Given the description of an element on the screen output the (x, y) to click on. 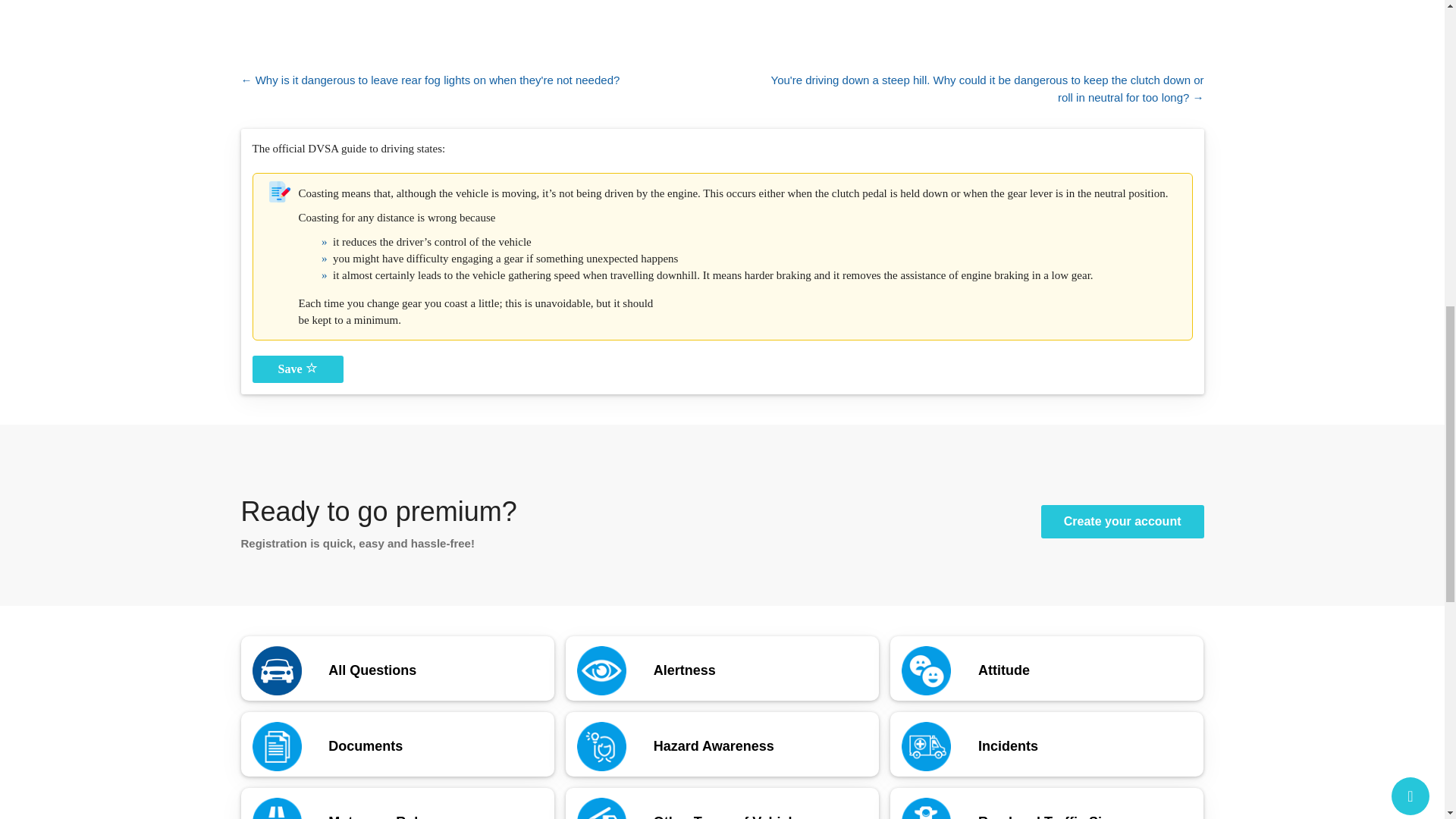
Advertisement (721, 24)
